Given the description of an element on the screen output the (x, y) to click on. 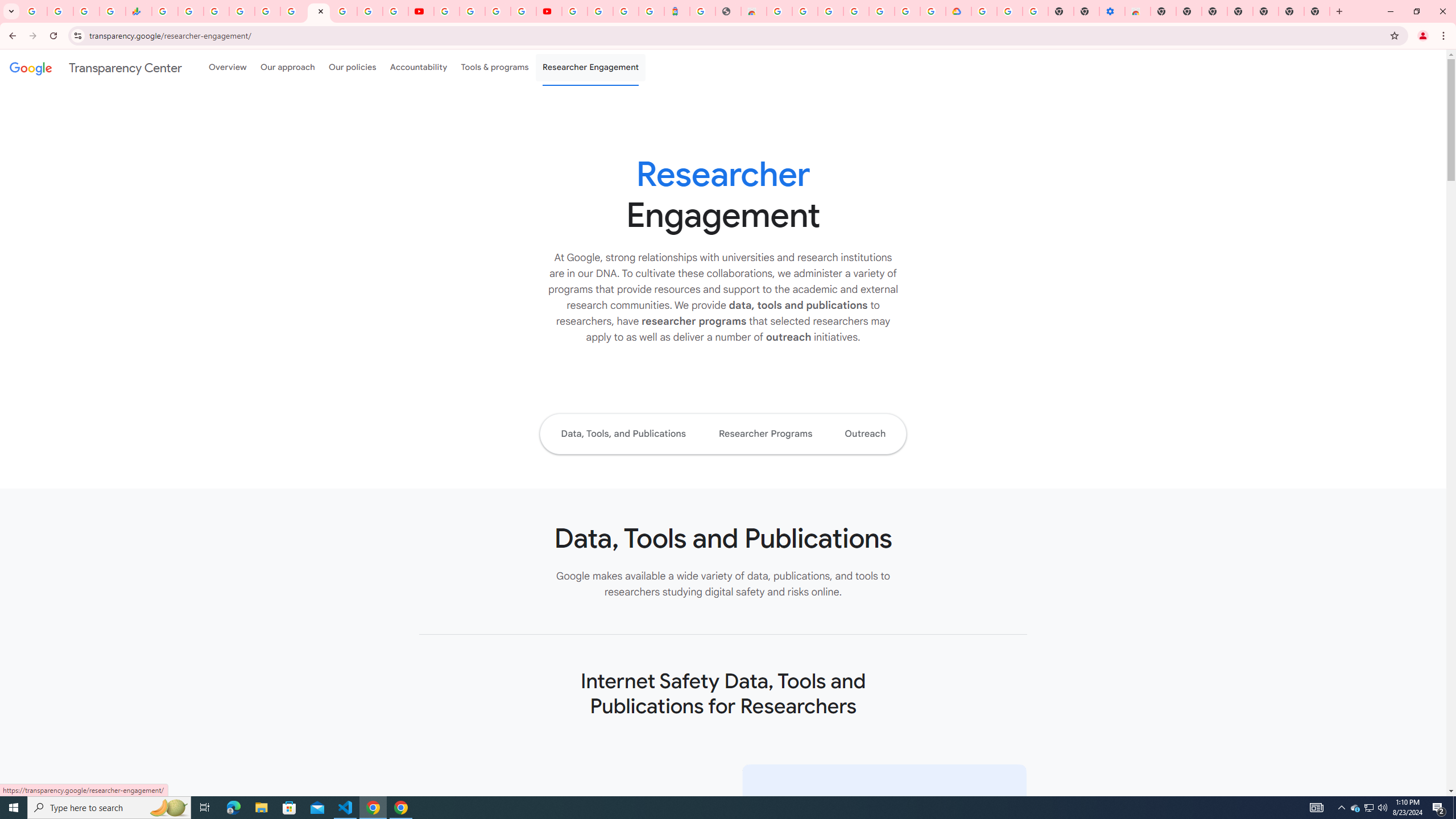
Sign in - Google Accounts (907, 11)
Create your Google Account (497, 11)
YouTube (446, 11)
Content Creator Programs & Opportunities - YouTube Creators (548, 11)
Sign in - Google Accounts (242, 11)
Researcher Engagement (590, 67)
Google Workspace Admin Community (34, 11)
